Given the description of an element on the screen output the (x, y) to click on. 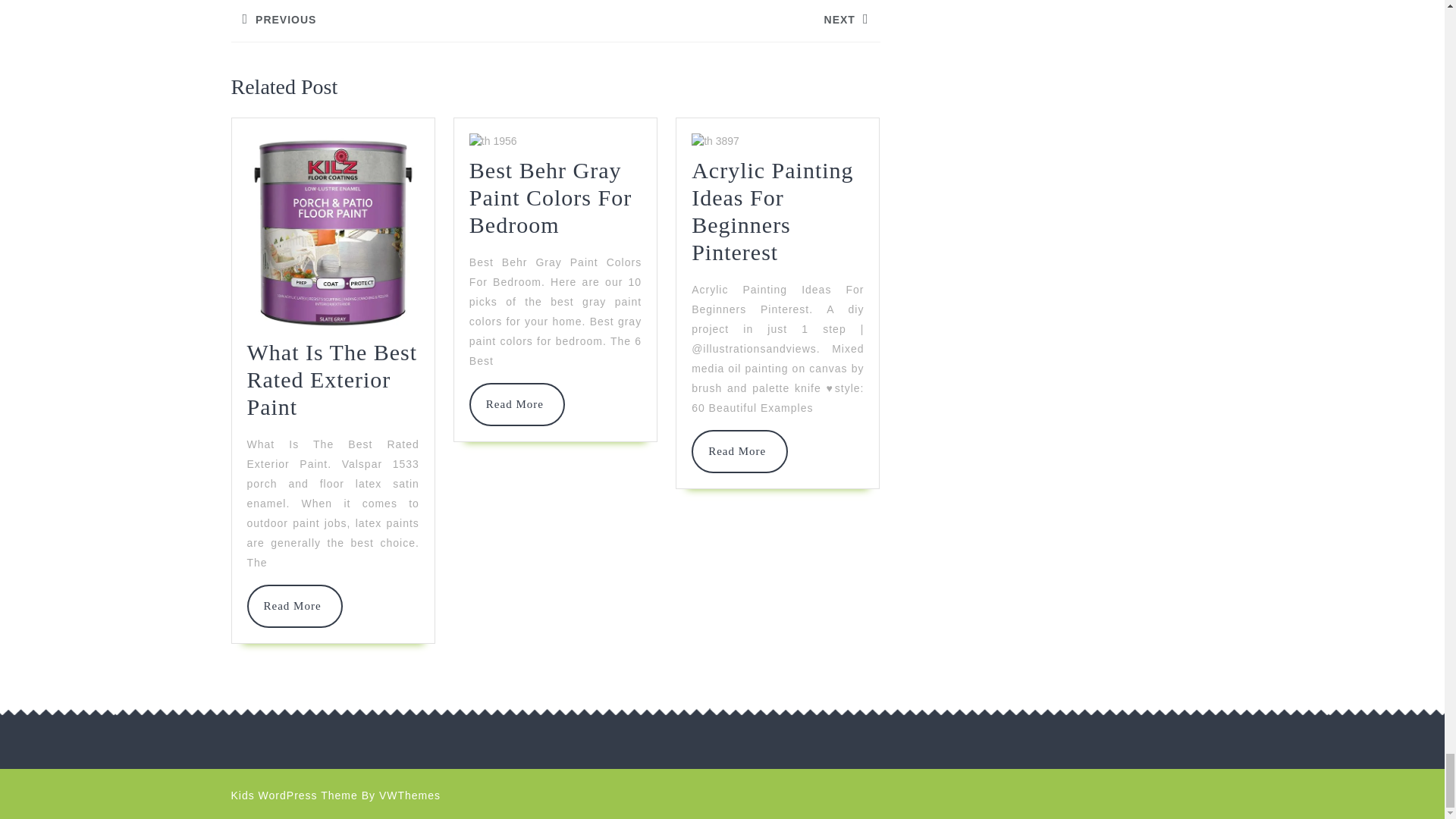
Kids WordPress Theme (739, 451)
